Given the description of an element on the screen output the (x, y) to click on. 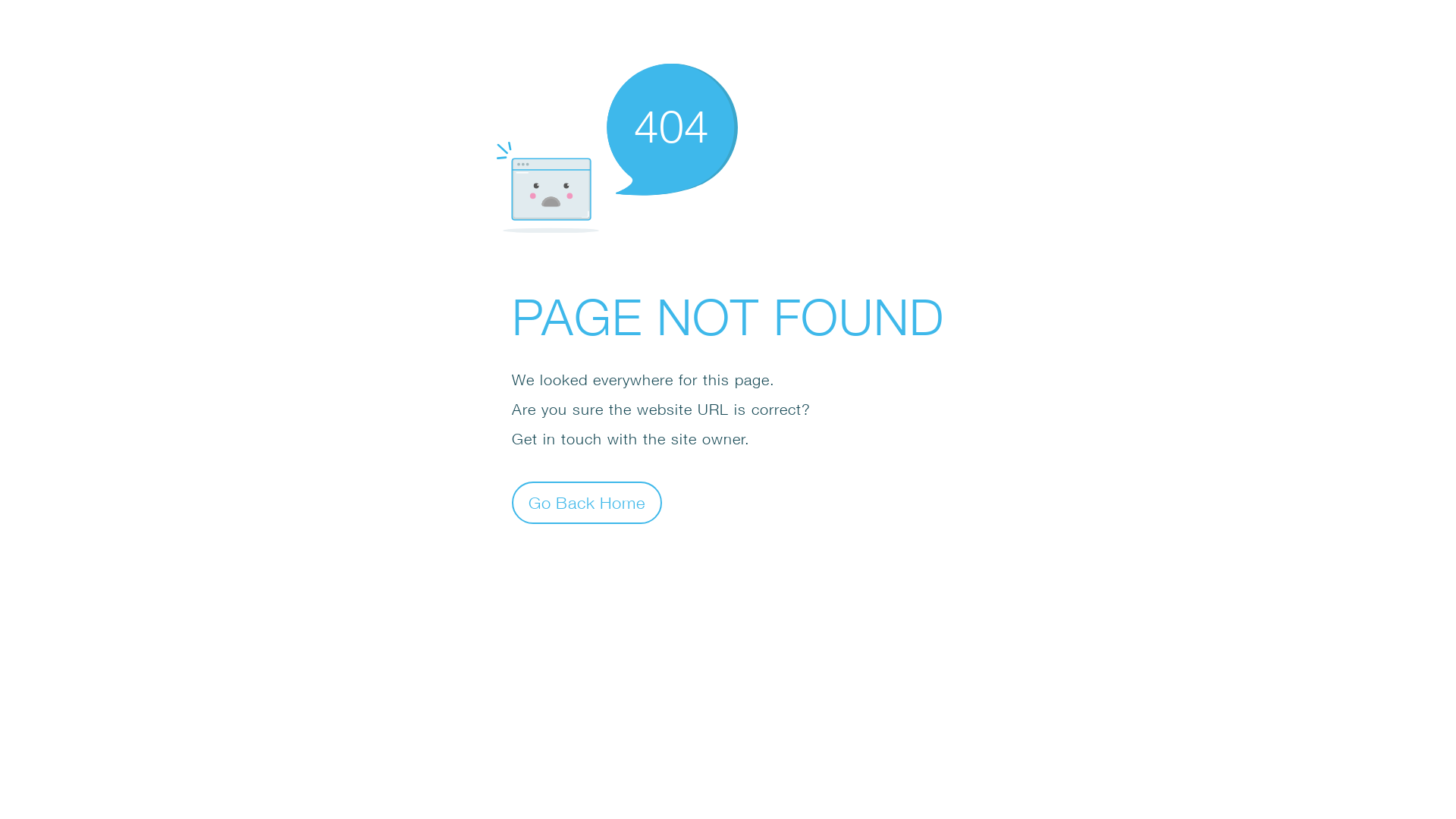
Go Back Home Element type: text (586, 502)
